Given the description of an element on the screen output the (x, y) to click on. 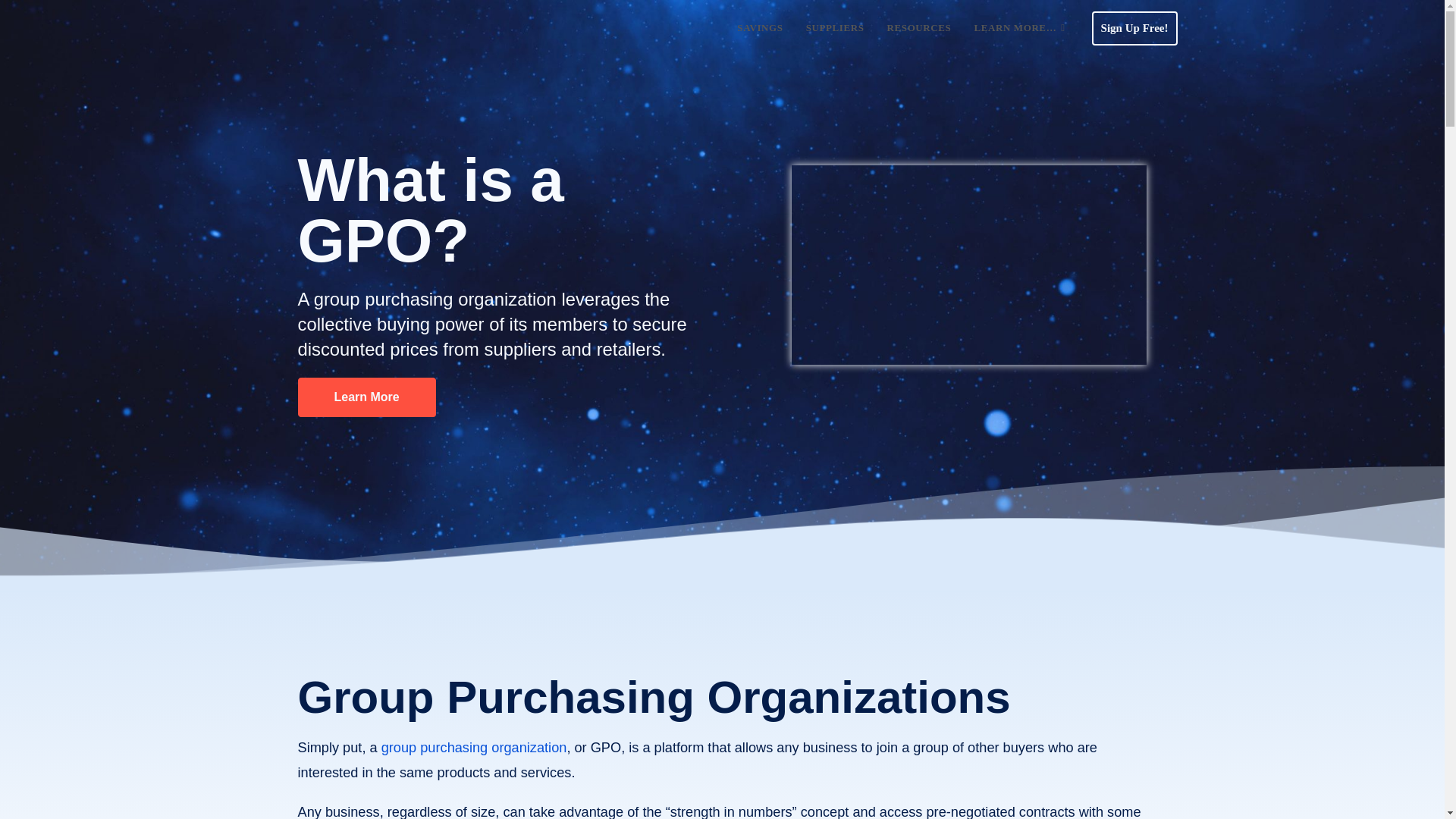
RESOURCES (919, 28)
Sign Up Free! (1134, 27)
group purchasing organization (474, 747)
Page 3 (722, 809)
Learn More (366, 396)
SUPPLIERS (835, 28)
SAVINGS (759, 28)
